Given the description of an element on the screen output the (x, y) to click on. 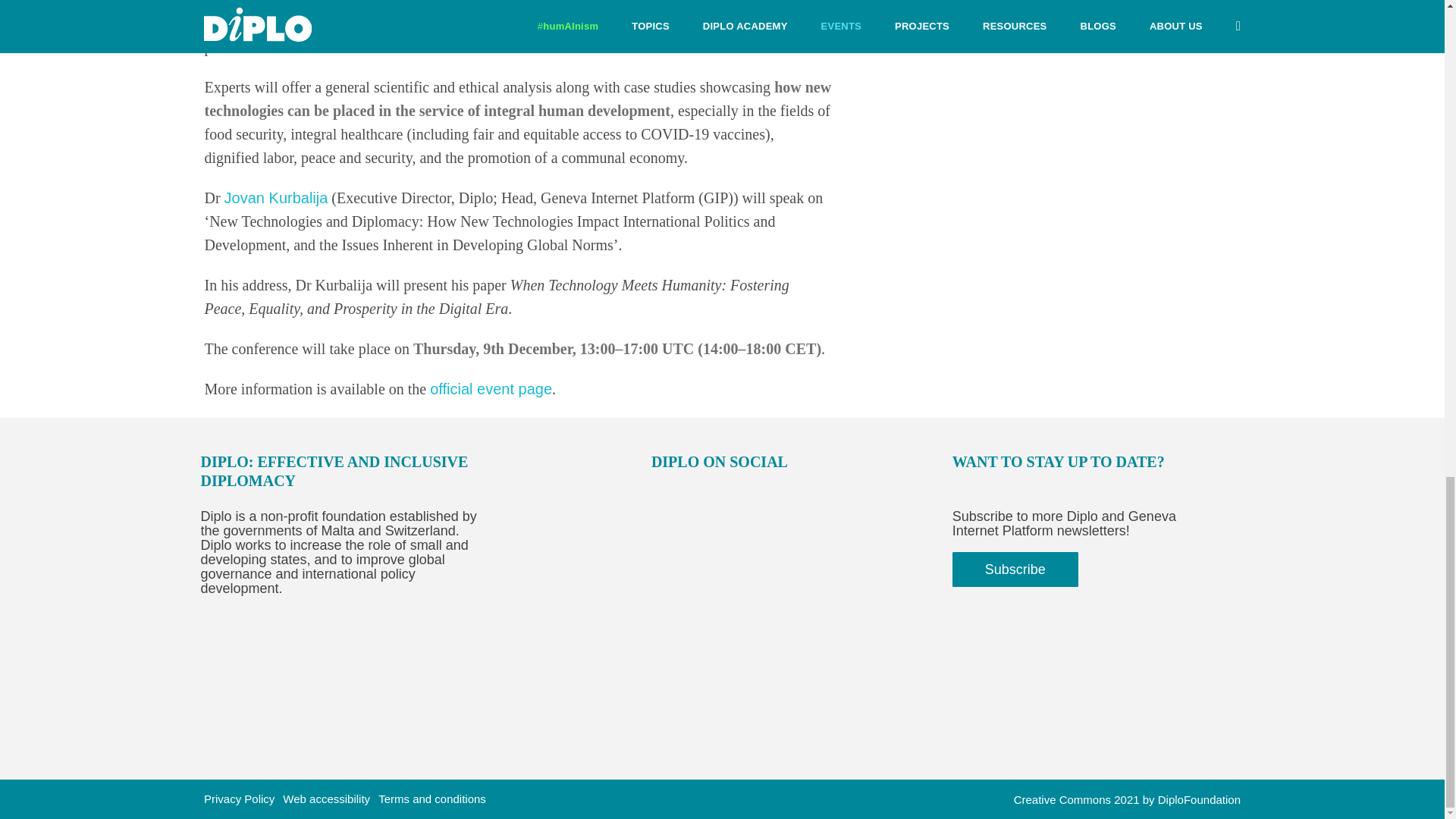
Jovan Kurbalija (276, 197)
